Given the description of an element on the screen output the (x, y) to click on. 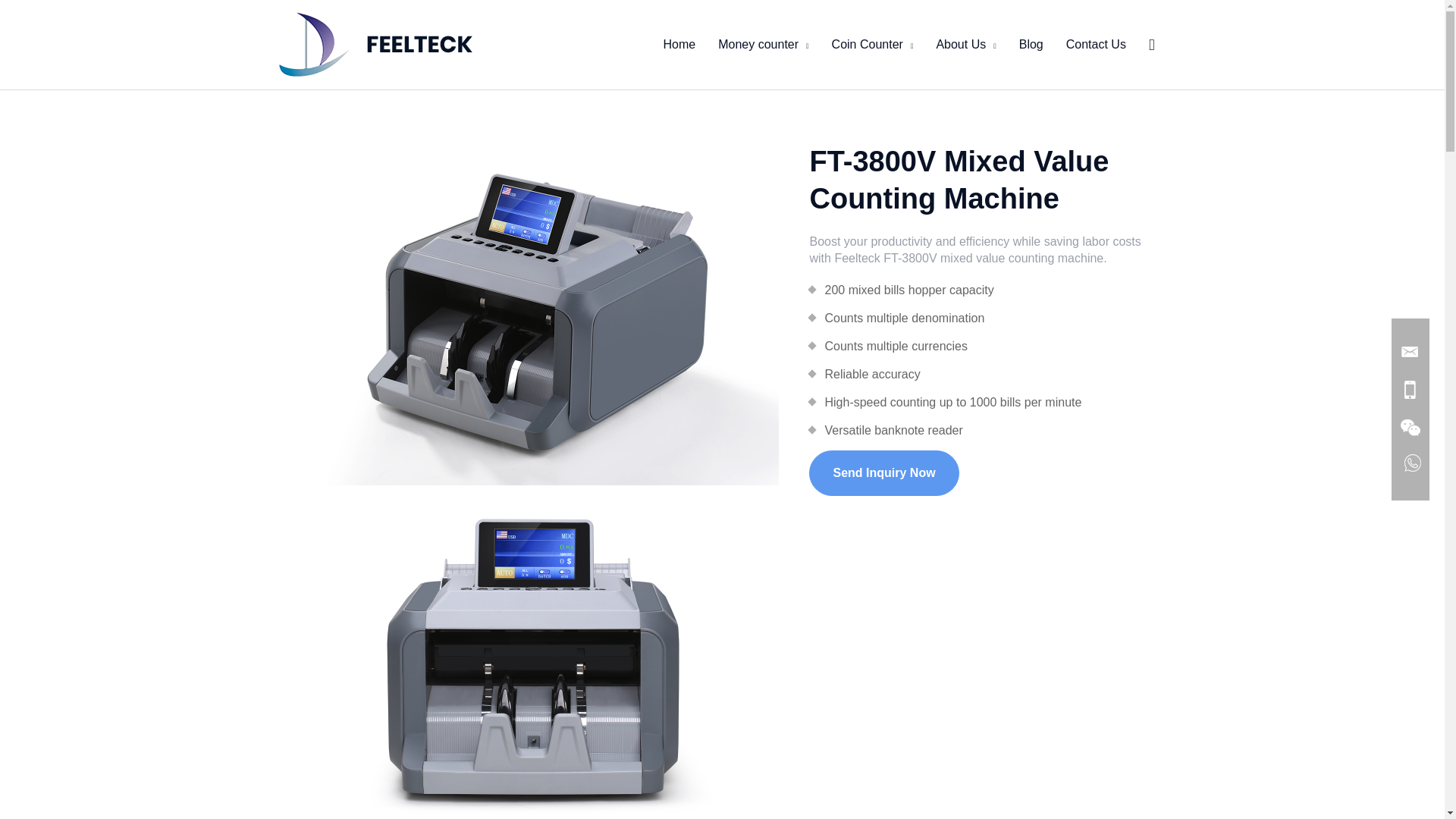
Coin Counter (872, 44)
Contact Us (1095, 44)
About Us (965, 44)
Money counter (762, 44)
